Given the description of an element on the screen output the (x, y) to click on. 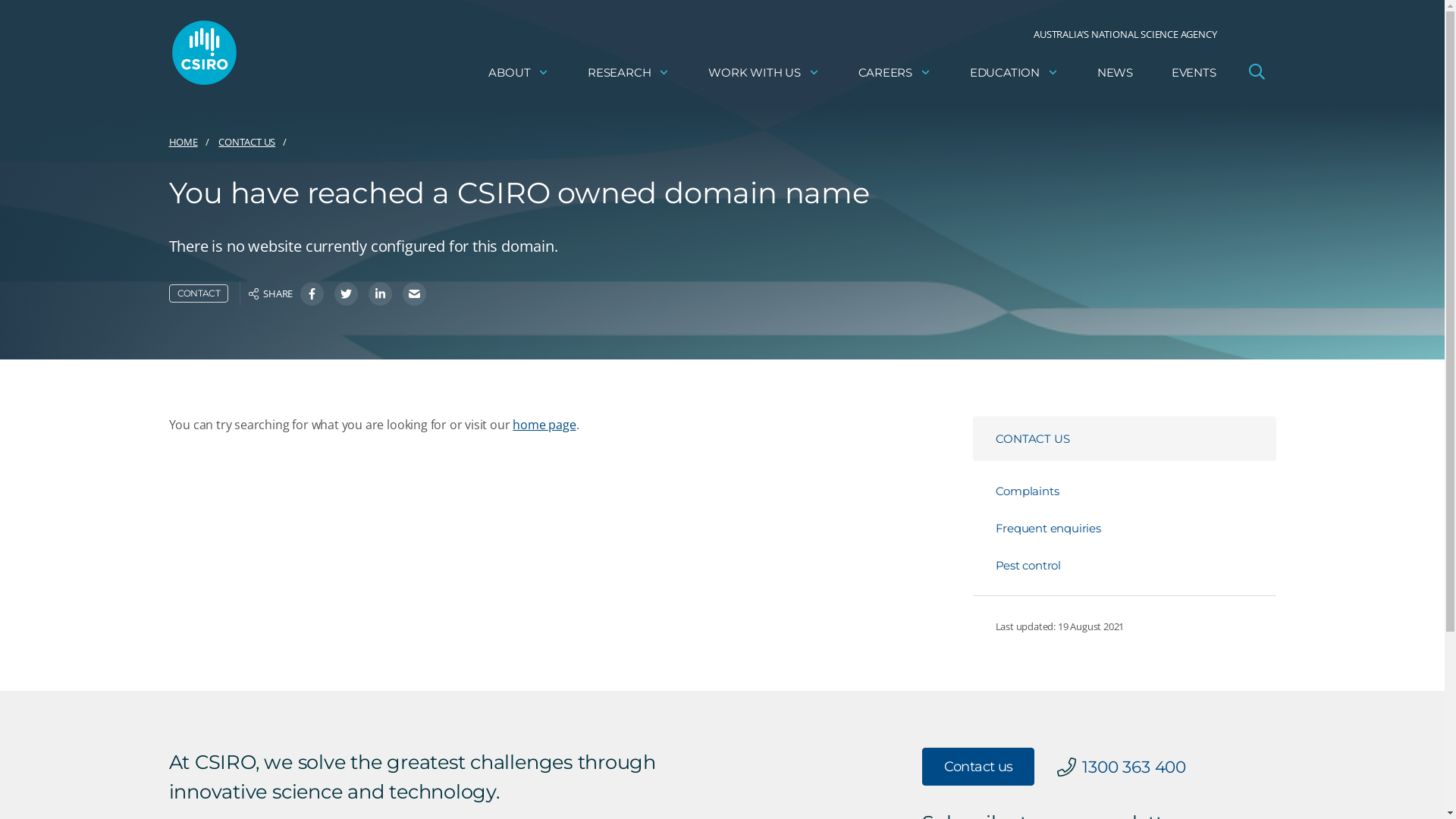
CONTACT Element type: text (198, 293)
RESEARCH Element type: text (628, 72)
CAREERS Element type: text (894, 72)
CONTACT US Element type: text (246, 141)
HOME Element type: text (182, 141)
ABOUT Element type: text (518, 72)
Contact us Element type: text (978, 766)
Pest control Element type: text (1134, 565)
EVENTS Element type: text (1193, 72)
NEWS Element type: text (1114, 72)
WORK WITH US Element type: text (763, 72)
home page Element type: text (543, 424)
EDUCATION Element type: text (1013, 72)
Complaints Element type: text (1134, 490)
1300 363 400 Element type: text (1133, 766)
Frequent enquiries Element type: text (1134, 527)
CONTACT US Element type: text (1123, 438)
